Given the description of an element on the screen output the (x, y) to click on. 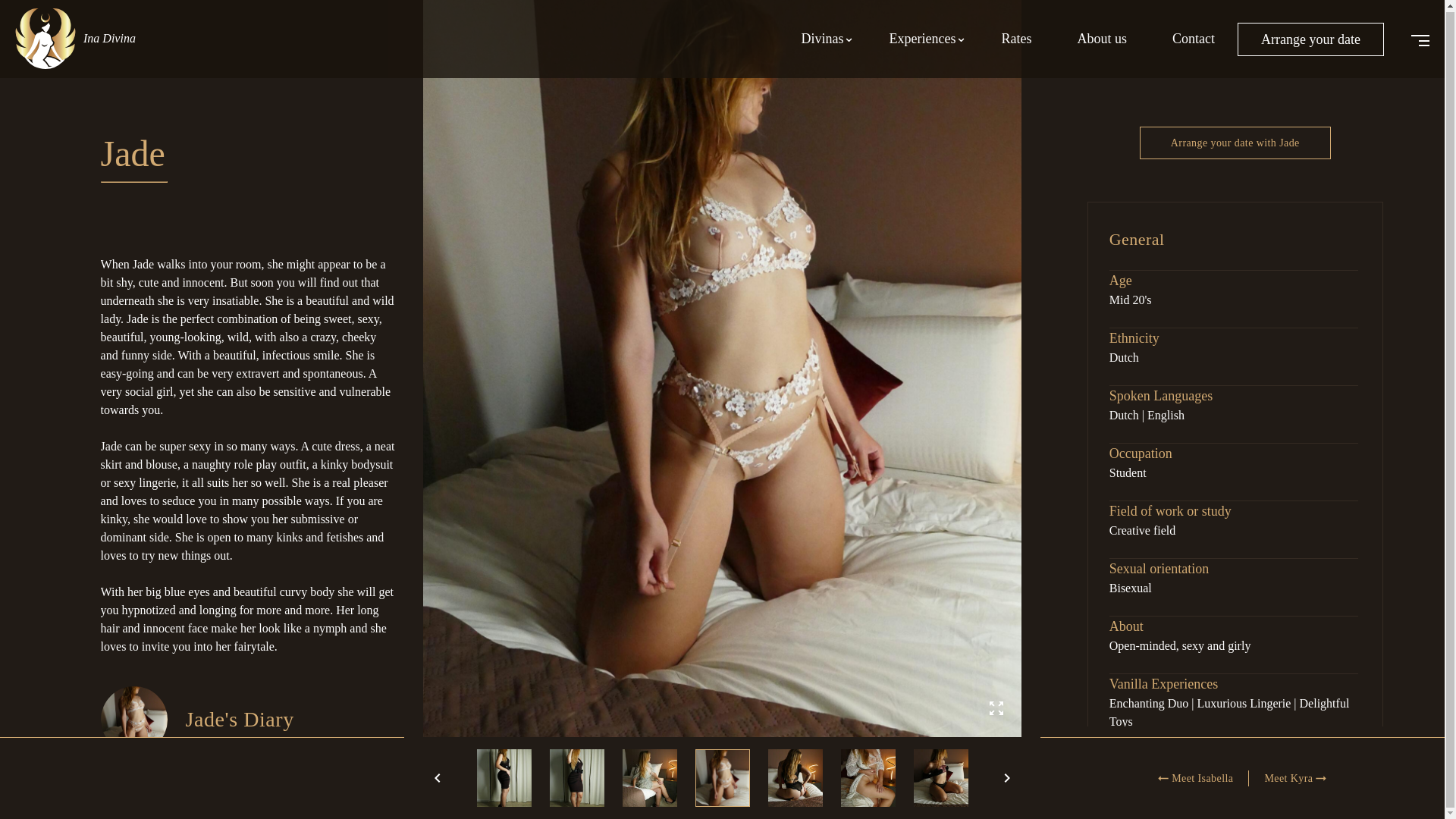
Arrange your date (1311, 38)
Ina Divina (82, 29)
Contact (1193, 38)
Rates (1016, 38)
Experiences (922, 38)
About us (1102, 38)
Divinas (822, 38)
